Given the description of an element on the screen output the (x, y) to click on. 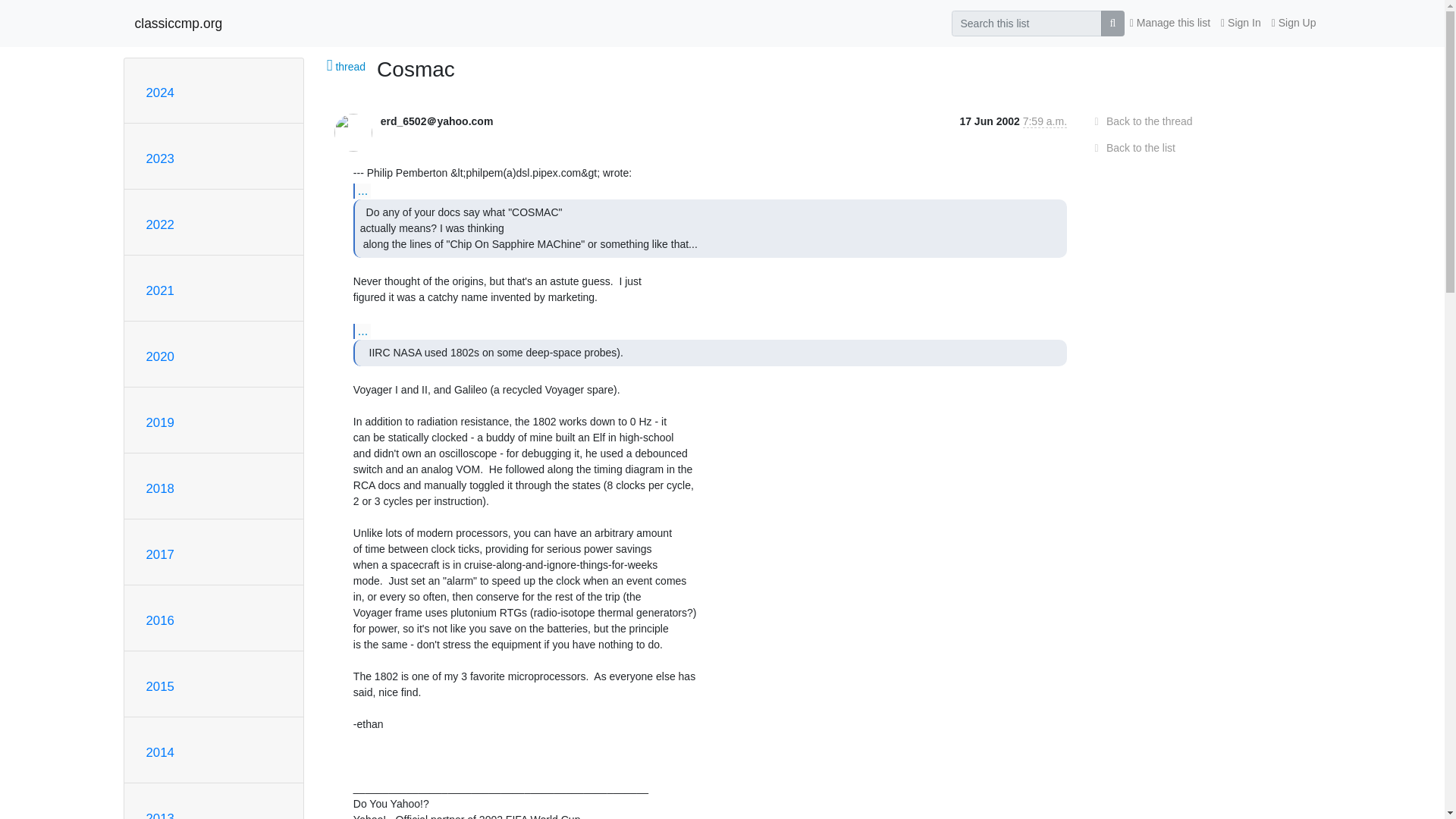
Manage this list (1169, 22)
Sender's time: June 17, 2002, 11:59 a.m. (1045, 121)
Sign Up (1294, 22)
Sign In (1240, 22)
2024 (159, 92)
2023 (159, 158)
classiccmp.org (178, 22)
2022 (159, 224)
